Given the description of an element on the screen output the (x, y) to click on. 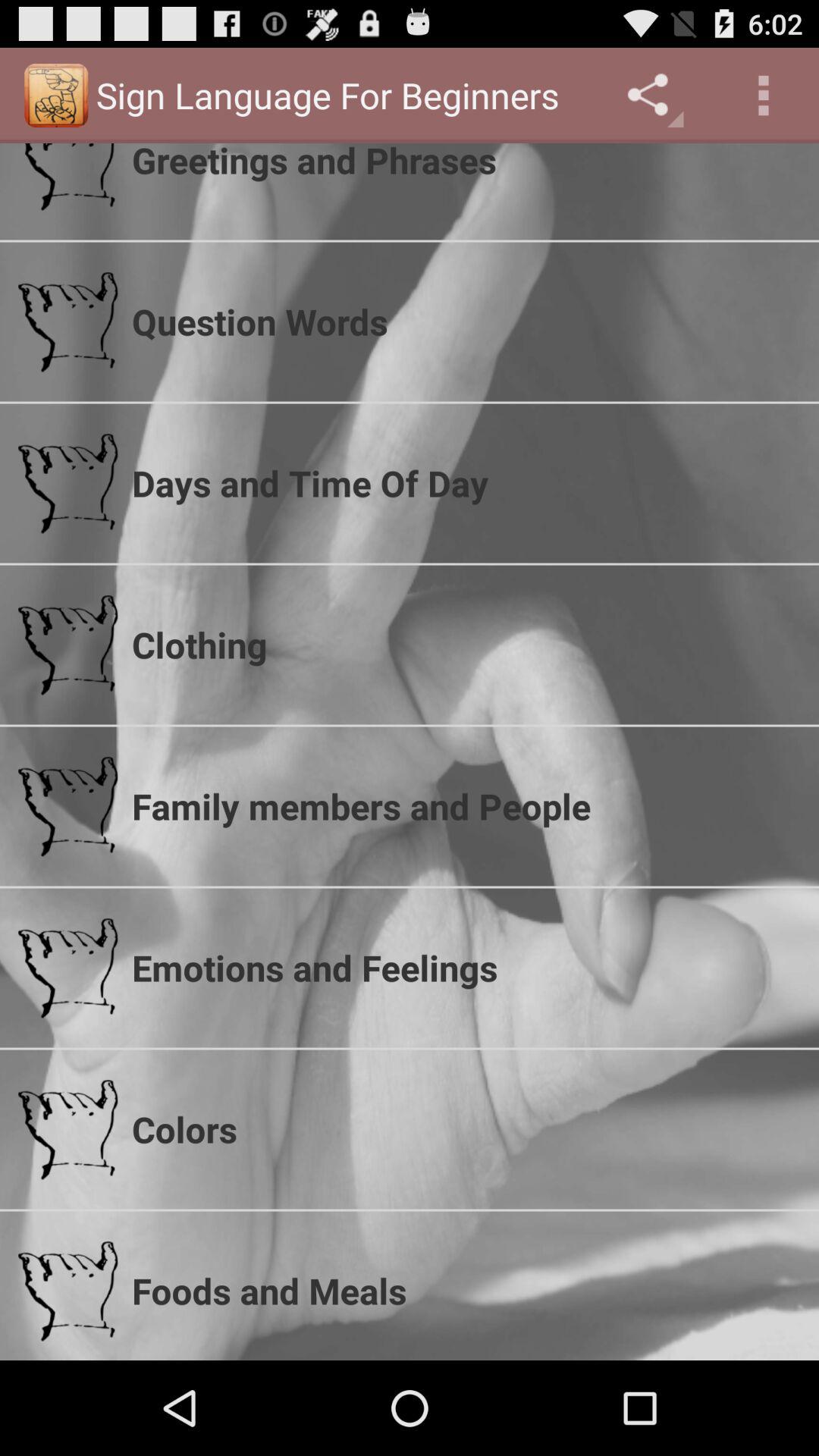
press clothing app (465, 644)
